Given the description of an element on the screen output the (x, y) to click on. 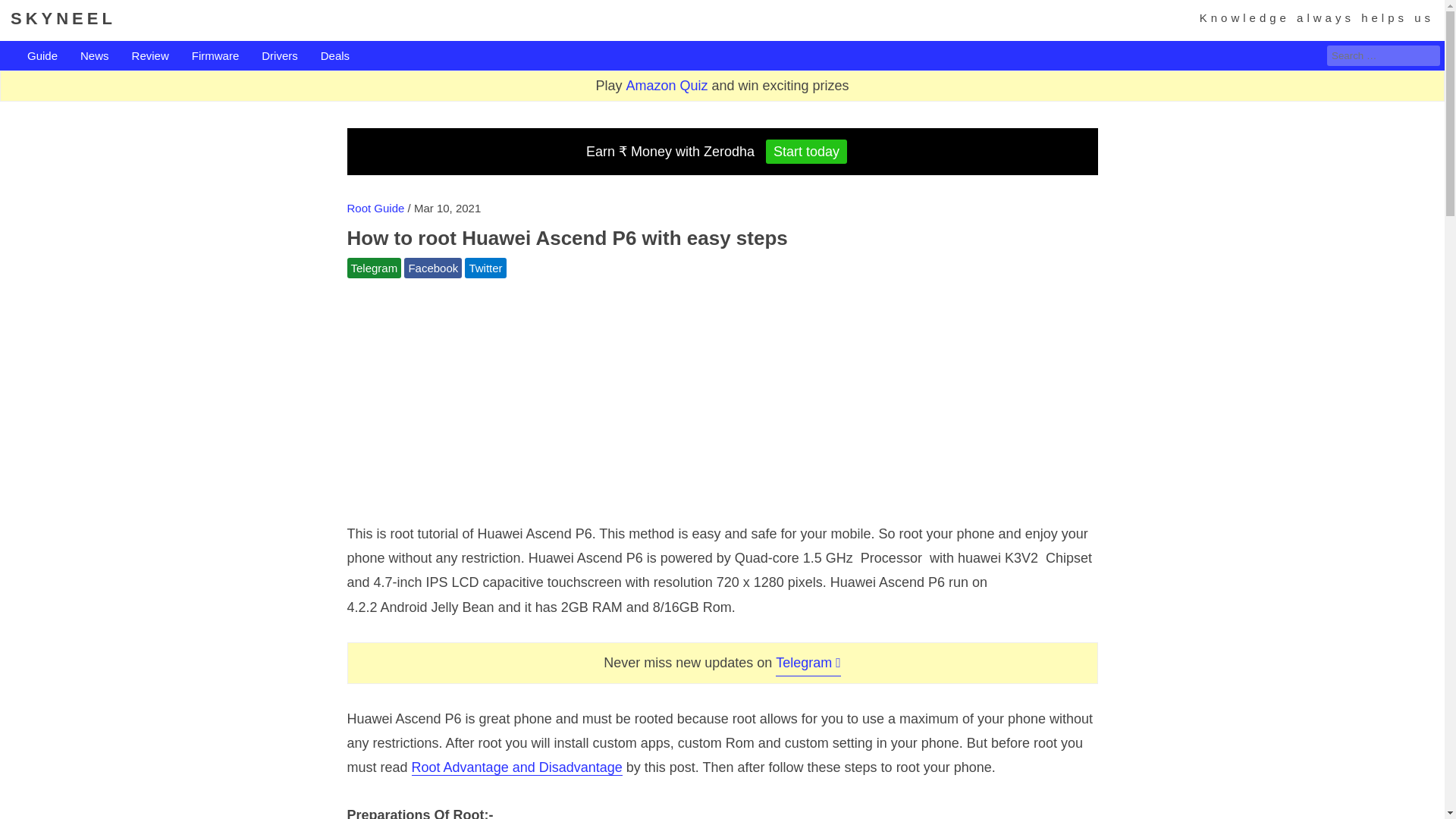
Deals (334, 55)
Review (150, 55)
Root Advantage and Disadvantage (517, 767)
Join us on Facebook (432, 267)
Root Guide (375, 207)
Join us on Telegram (808, 662)
Firmware (216, 55)
Facebook (432, 267)
News (94, 55)
Skyneel Home (63, 18)
Join us on Telegram (374, 267)
Telegram (374, 267)
Drivers (280, 55)
Guide (42, 55)
Twitter (484, 267)
